Given the description of an element on the screen output the (x, y) to click on. 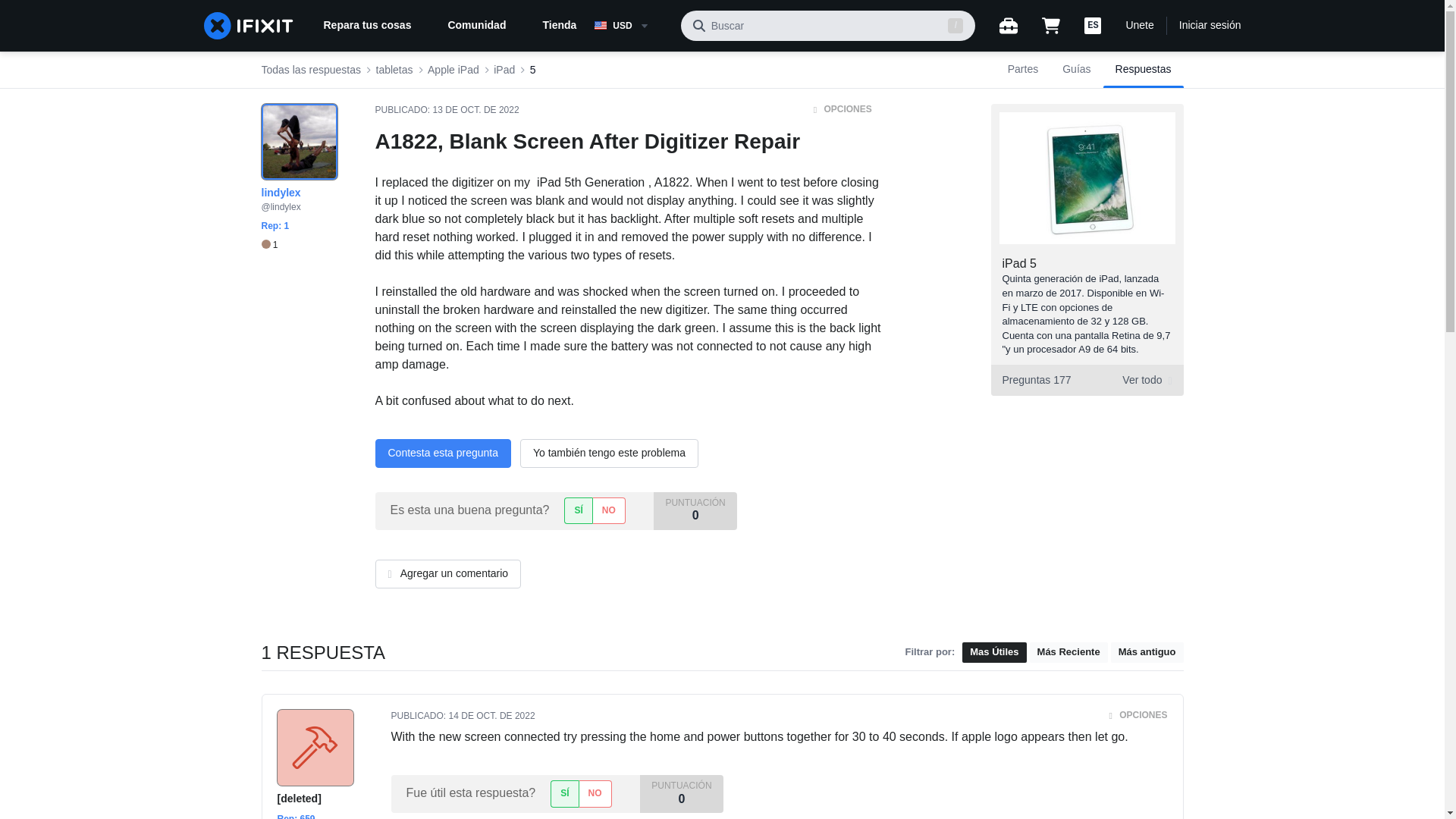
Fri, 14 Oct 2022 08:15:51 -0700 (491, 715)
USD (631, 25)
Thu, 13 Oct 2022 16:15:38 -0700 (475, 109)
Partes (1022, 69)
PUBLICADO: 13 DE OCT. DE 2022 (446, 109)
tabletas (394, 69)
Apple iPad (453, 69)
Respuestas (1143, 69)
Contesta esta pregunta (442, 452)
1 insignias de Bronce (1086, 379)
Unete (269, 245)
iPad (1139, 25)
iPad 5 (504, 69)
Todas las respuestas (1019, 263)
